Given the description of an element on the screen output the (x, y) to click on. 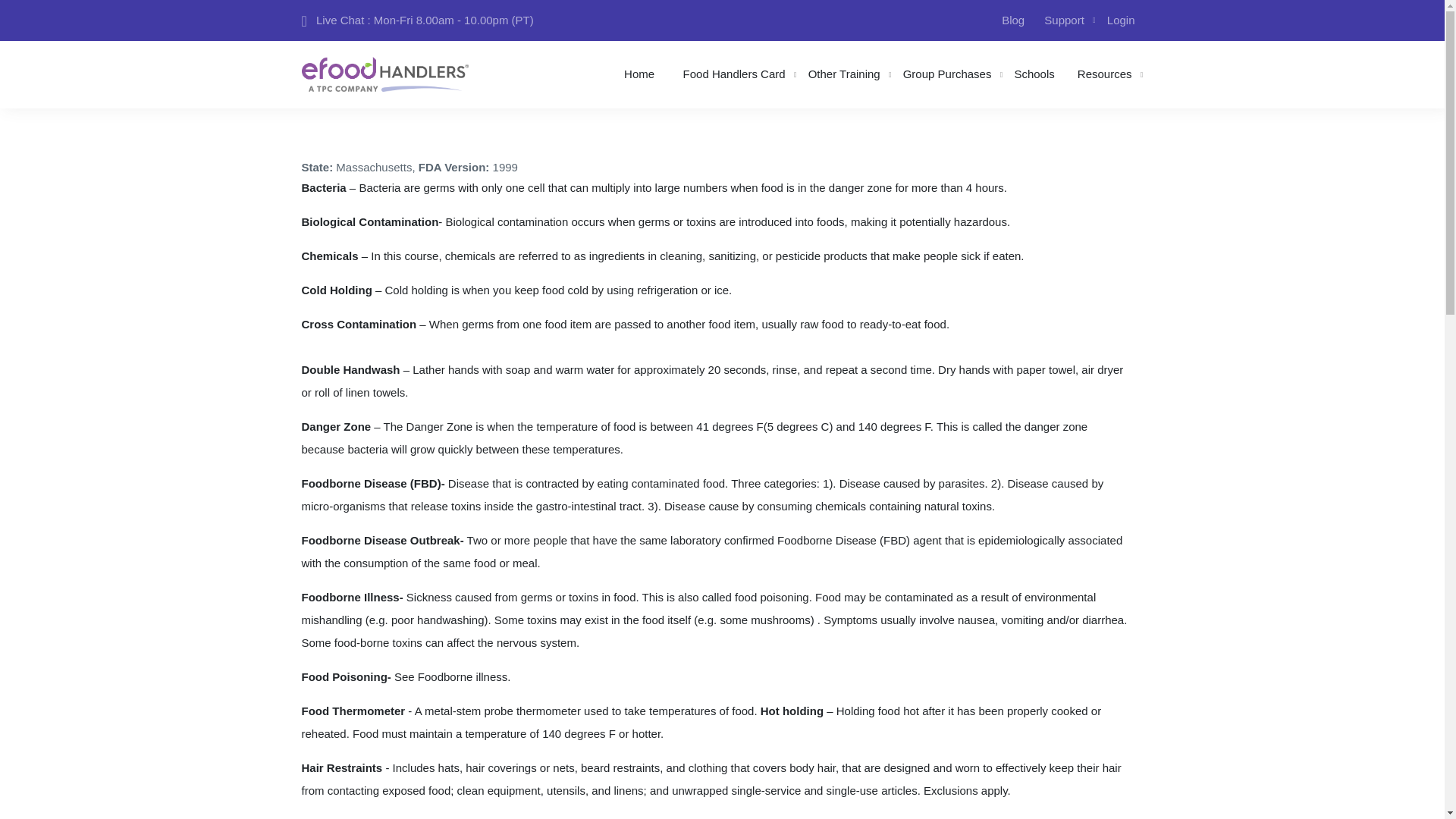
Group Purchases (947, 74)
Login (1120, 19)
Support (1064, 19)
Resources (1103, 74)
Food Handlers Card (733, 74)
Schools (1034, 74)
Home (638, 74)
Blog (1012, 20)
Other Training (843, 74)
